Given the description of an element on the screen output the (x, y) to click on. 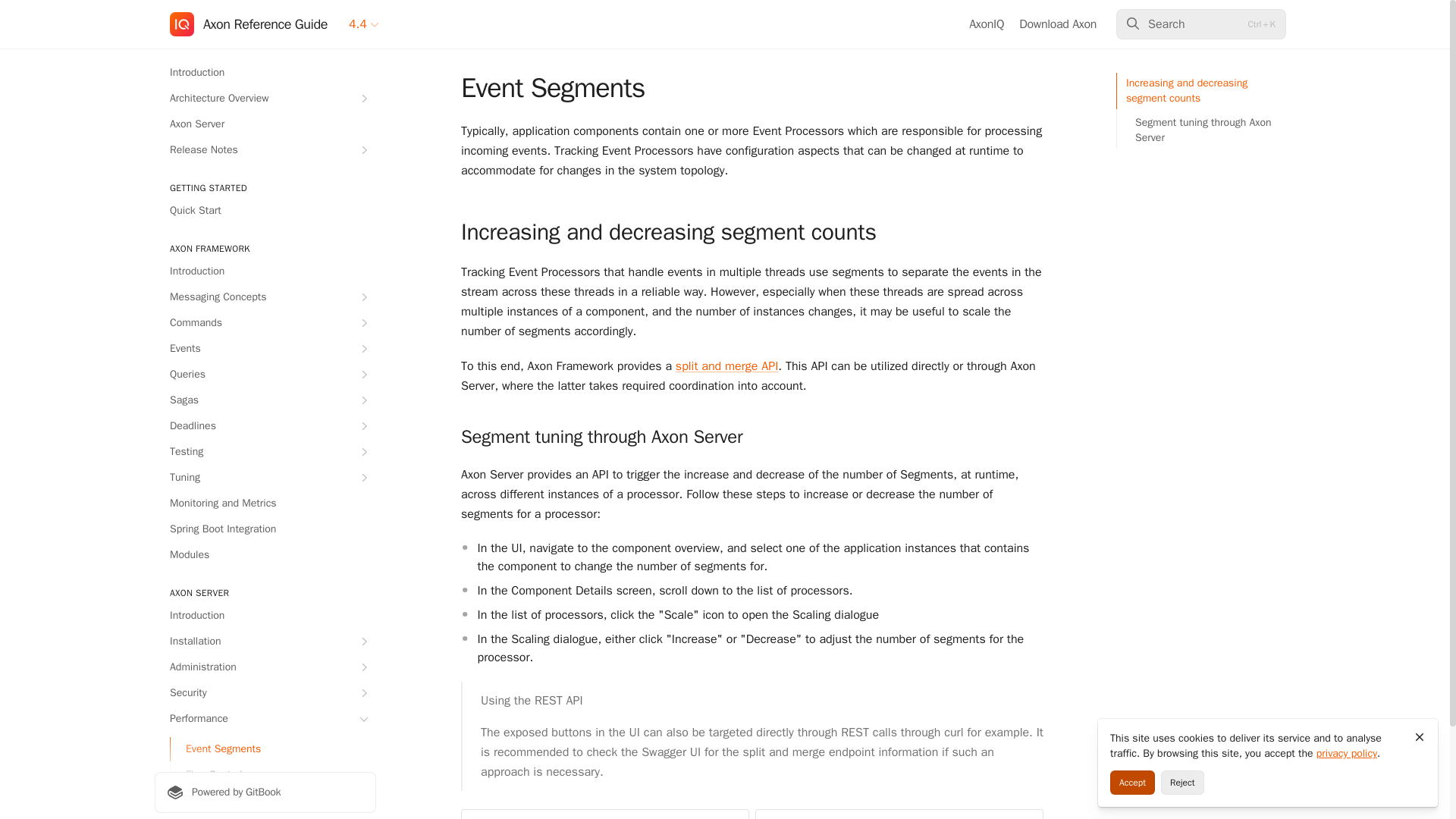
Architecture Overview (264, 98)
Axon Reference Guide (248, 24)
Introduction (264, 72)
Close (1419, 737)
Release Notes (264, 150)
Axon Server (264, 124)
Download Axon (1057, 24)
